Given the description of an element on the screen output the (x, y) to click on. 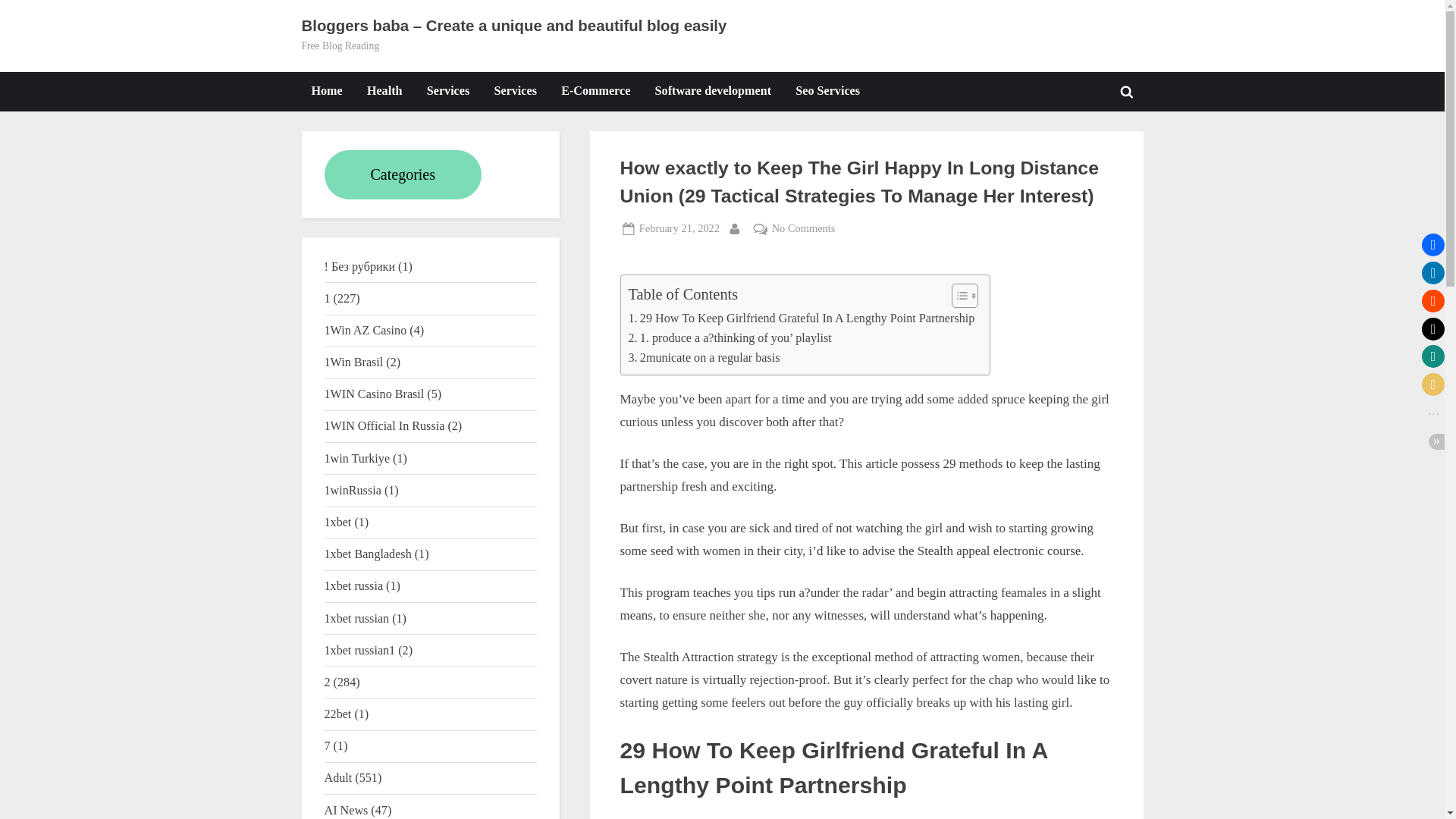
1xbet russian (357, 617)
1xbet (338, 521)
Health (384, 91)
1winRussia (352, 490)
1Win Brasil (354, 361)
1xbet Bangladesh (368, 553)
Seo Services (827, 91)
1win Turkiye (357, 458)
Toggle search form (1126, 91)
1Win AZ Casino (365, 329)
2municate on a regular basis (702, 357)
E-Commerce (595, 91)
Services (515, 91)
